Given the description of an element on the screen output the (x, y) to click on. 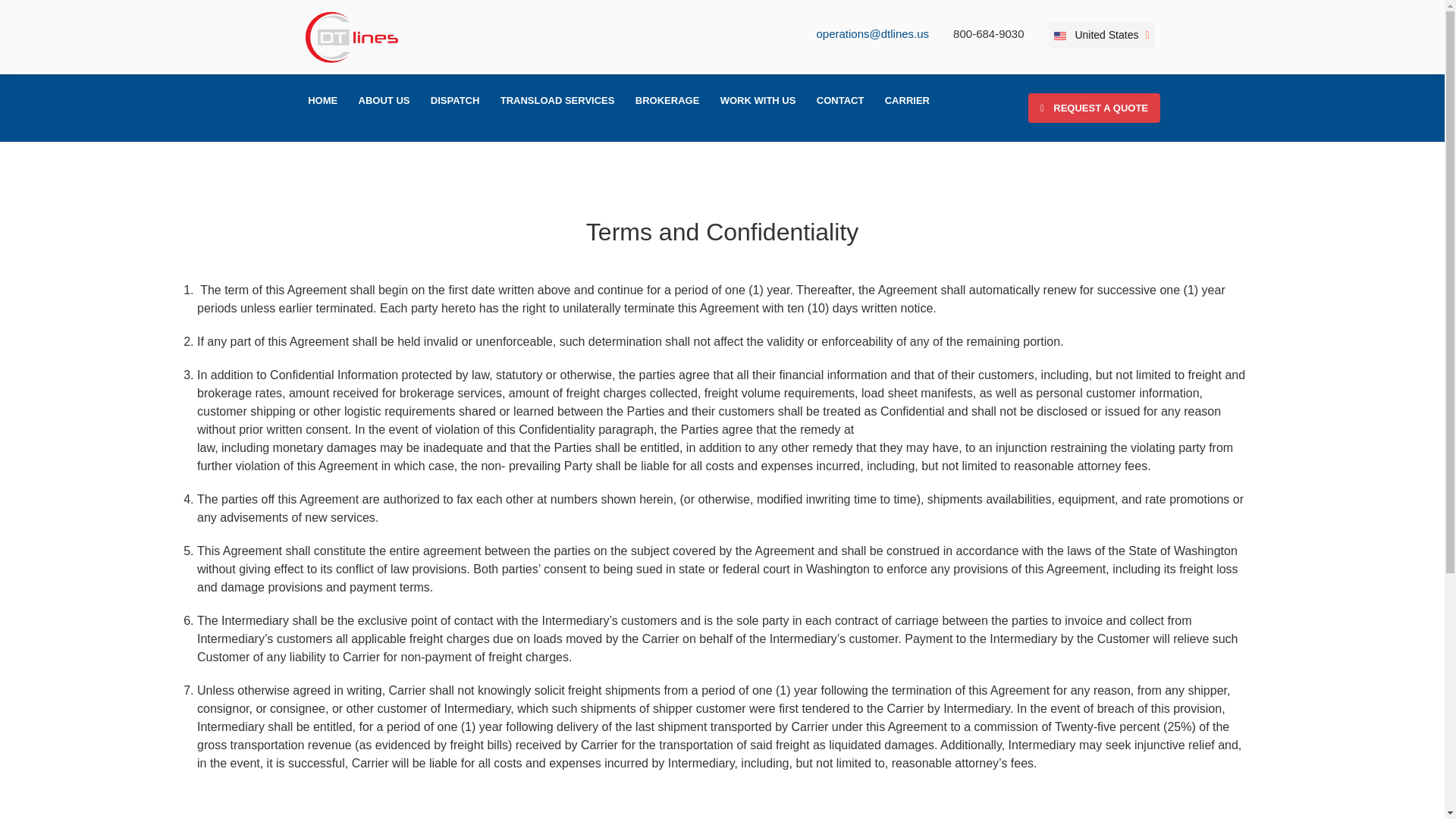
REQUEST A QUOTE (1093, 107)
Home (322, 100)
HOME (322, 100)
800-684-9030 (988, 33)
WORK WITH US (758, 100)
TRANSLOAD SERVICES (557, 100)
Transload Services (557, 100)
Work with us (758, 100)
ABOUT US (383, 100)
Carrier (907, 100)
